Given the description of an element on the screen output the (x, y) to click on. 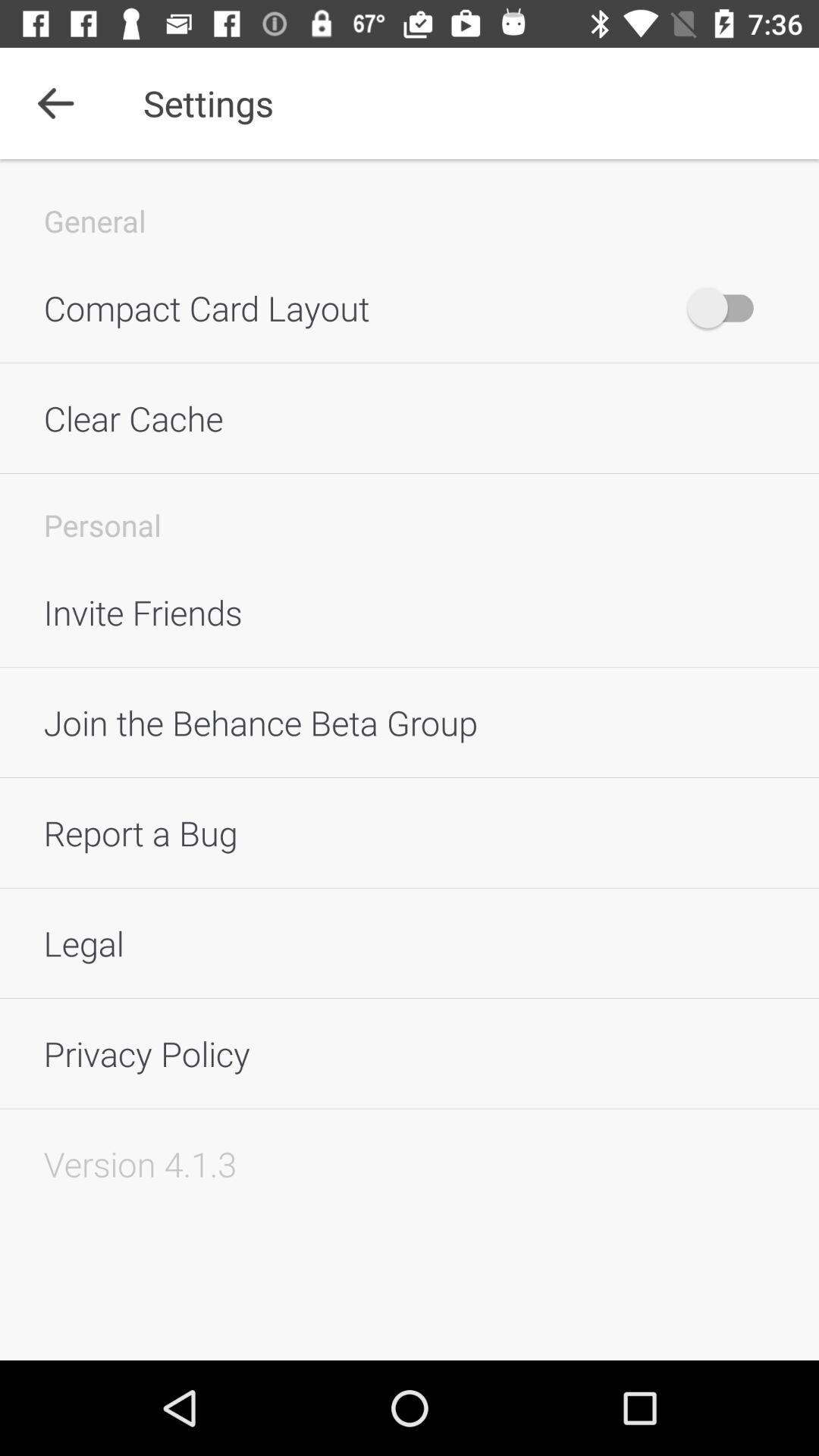
tap the clear cache icon (409, 418)
